Given the description of an element on the screen output the (x, y) to click on. 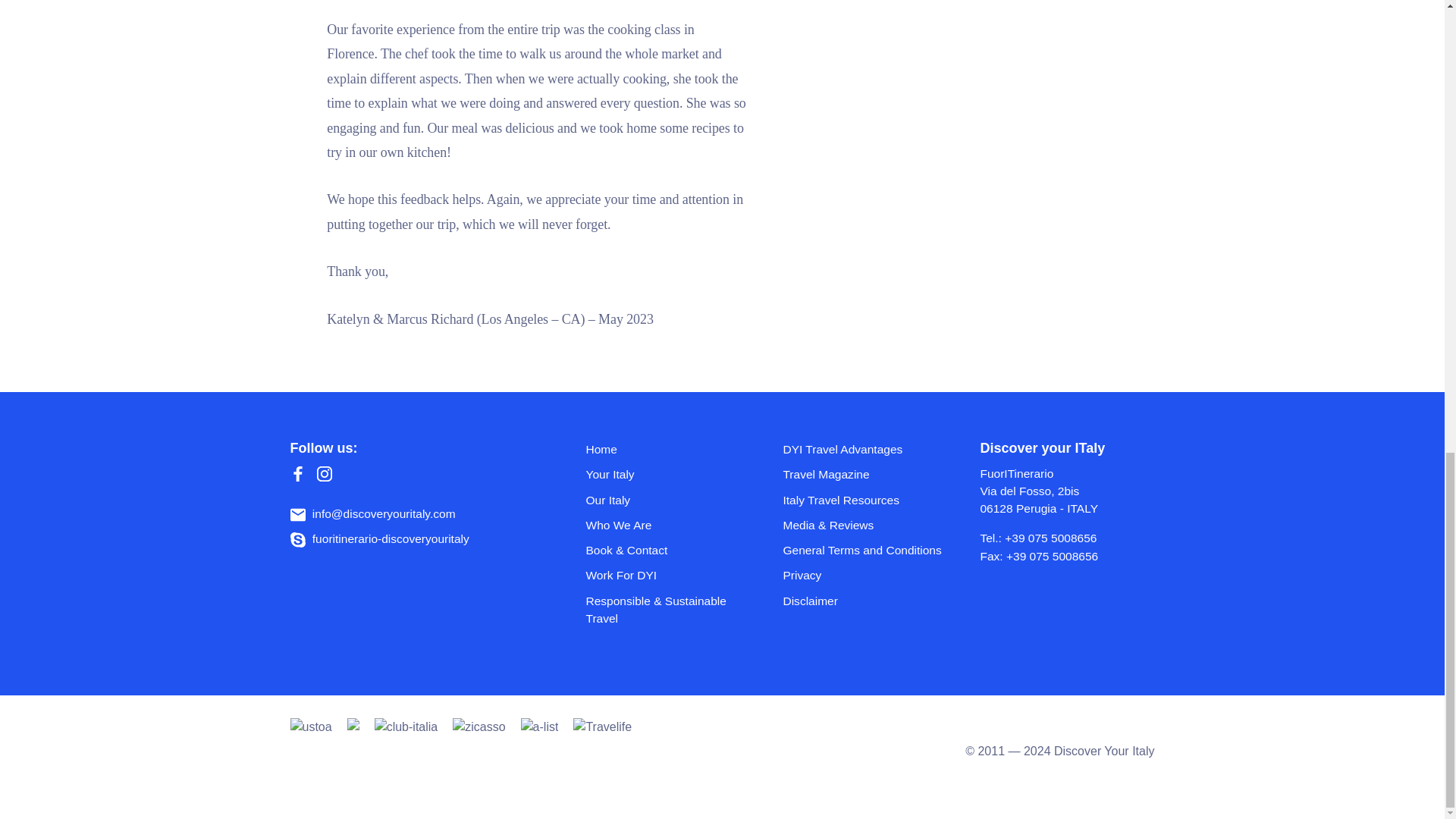
Privacy (802, 574)
Disclaimer (810, 600)
Work For DYI (620, 574)
club-italia (406, 750)
Travel Magazine (826, 473)
Home (600, 449)
Italy Travel Resources (841, 499)
fuoritinerario-discoveryouritaly (378, 538)
Your Italy (609, 473)
DYI Travel Advantages (842, 449)
General Terms and Conditions (861, 549)
Who We Are (617, 524)
Our Italy (607, 499)
